Given the description of an element on the screen output the (x, y) to click on. 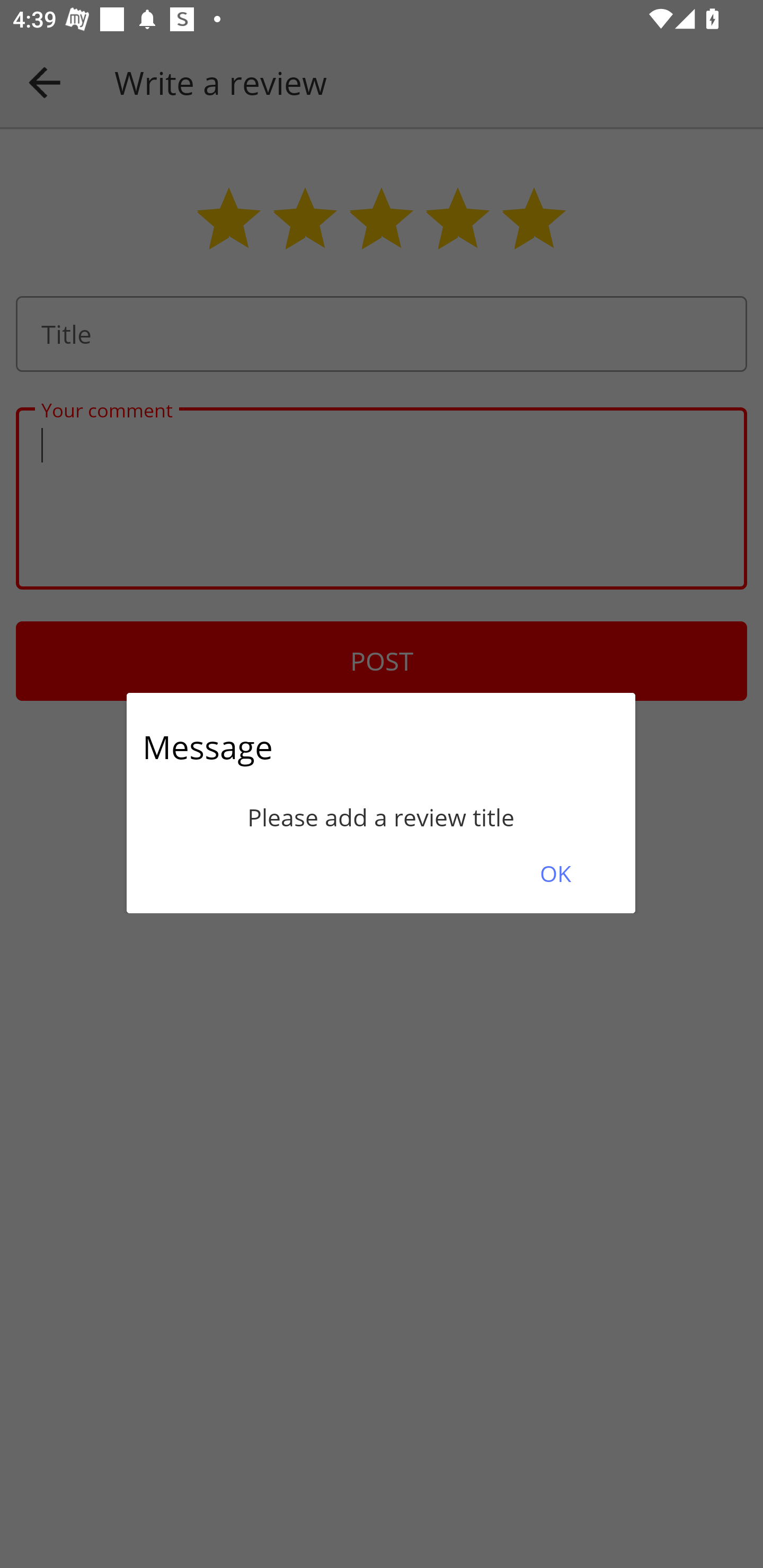
OK (555, 873)
